Given the description of an element on the screen output the (x, y) to click on. 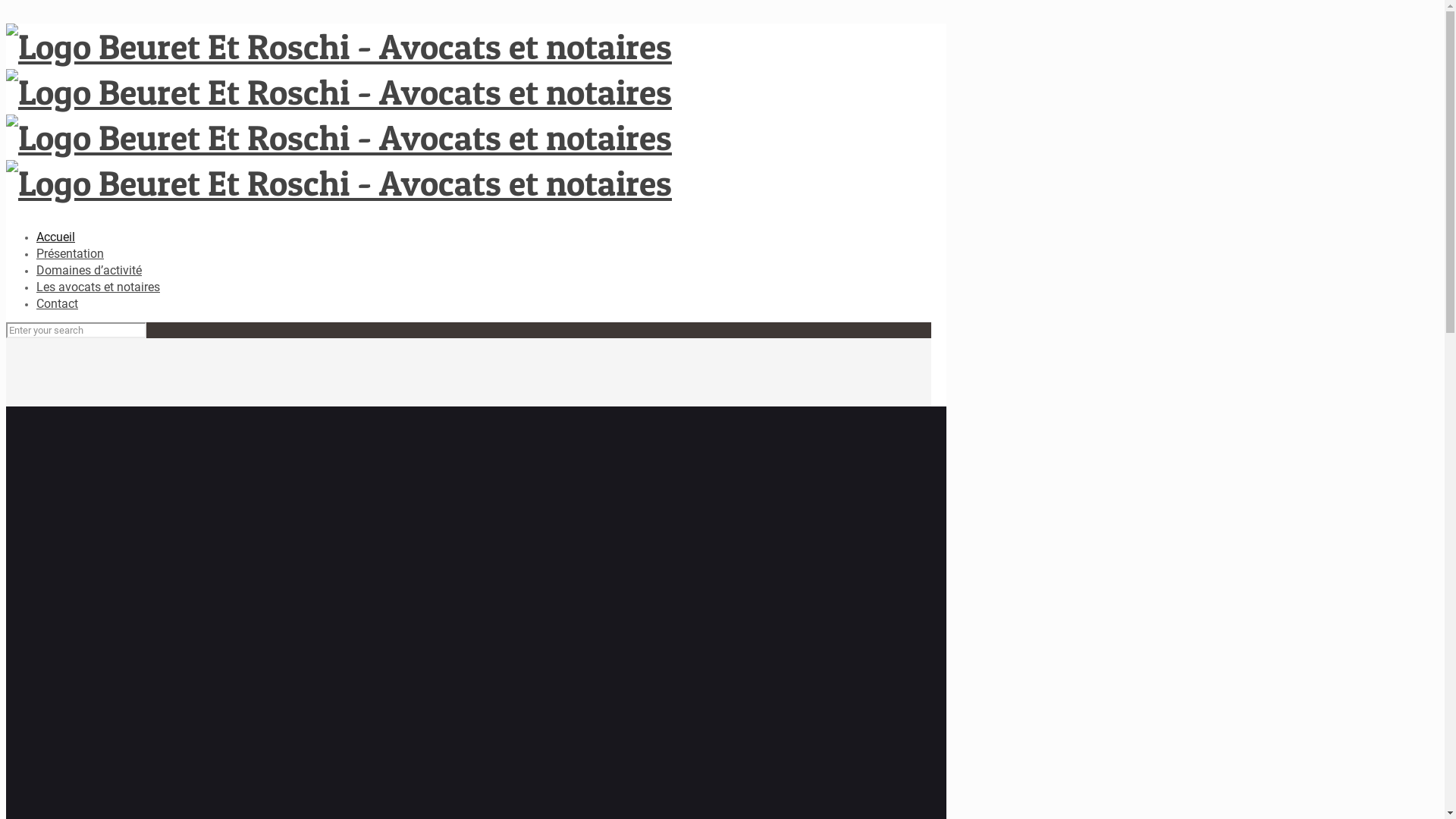
Contact Element type: text (57, 303)
Les avocats et notaires Element type: text (98, 286)
Etude Beuret & Roschi Element type: hover (338, 114)
Accueil Element type: text (55, 236)
